Given the description of an element on the screen output the (x, y) to click on. 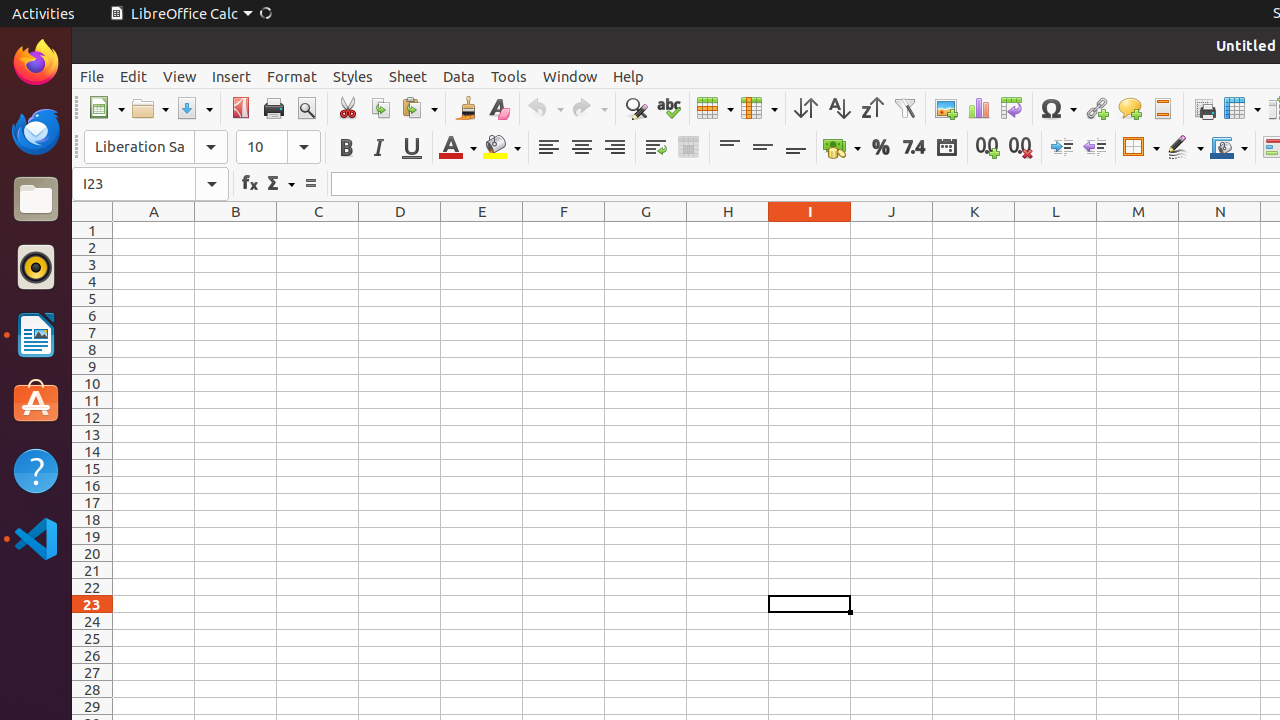
Apply Style Element type: text (73, 129)
Font Size Element type: panel (278, 147)
M1 Element type: table-cell (1138, 230)
Edit Element type: menu (133, 76)
Borders (Shift to overwrite) Element type: push-button (1141, 147)
